Given the description of an element on the screen output the (x, y) to click on. 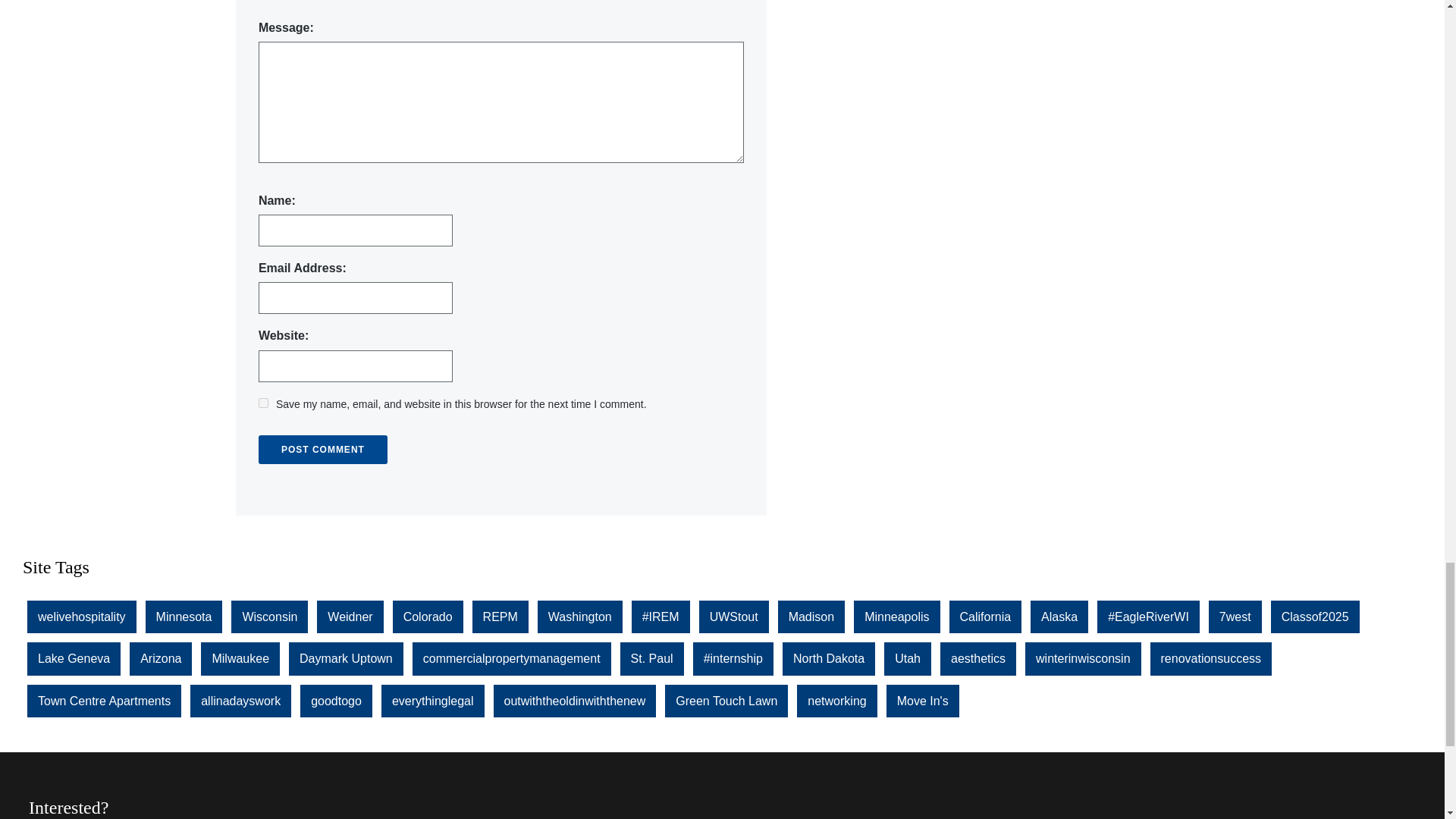
Post Comment (323, 449)
REPM (499, 616)
Alaska (1058, 616)
Post Comment (323, 449)
7west (1235, 616)
California (985, 616)
Weidner (349, 616)
Colorado (428, 616)
Madison (810, 616)
yes (263, 402)
